Given the description of an element on the screen output the (x, y) to click on. 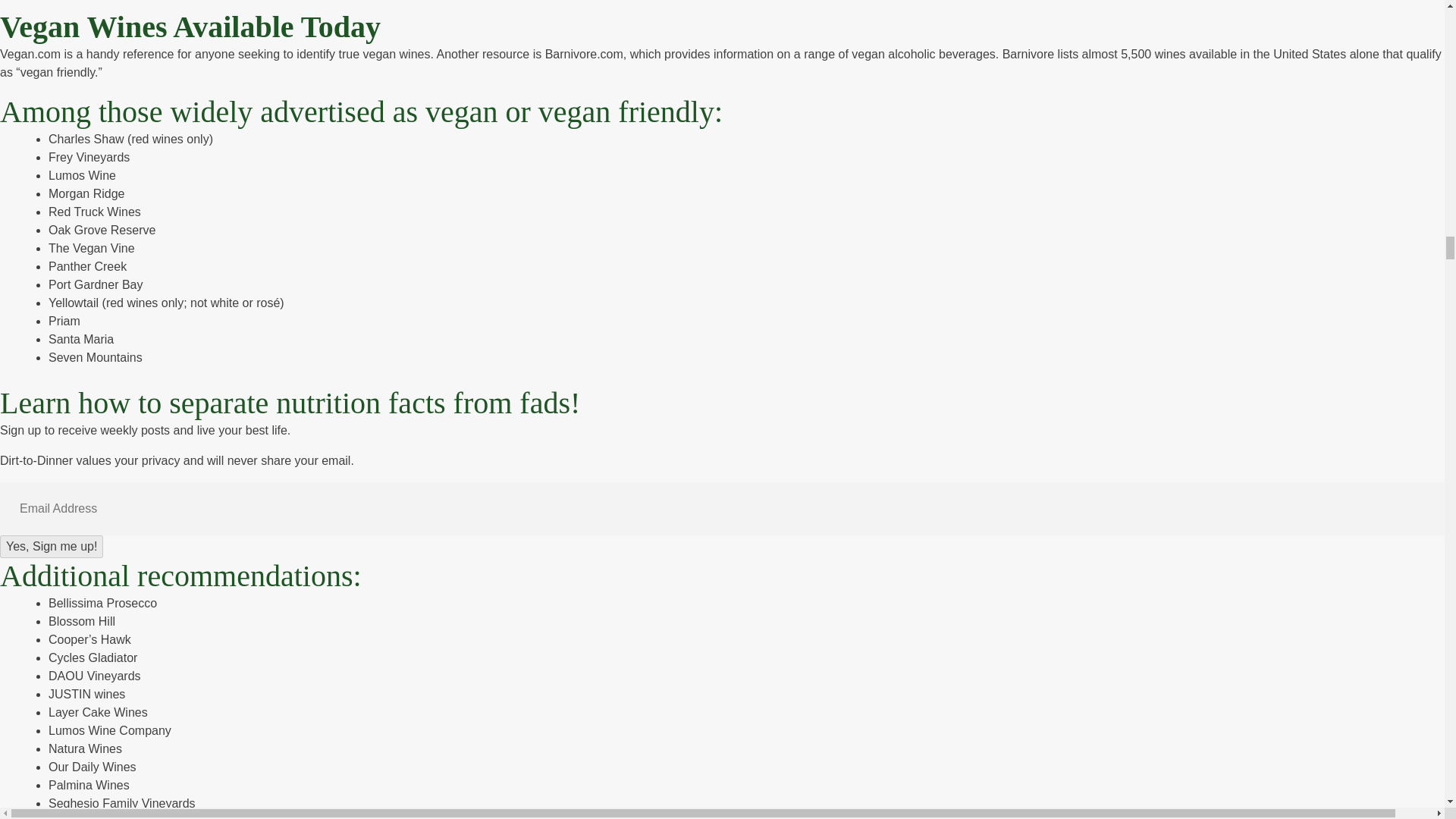
Yes, Sign me up! (51, 546)
